Given the description of an element on the screen output the (x, y) to click on. 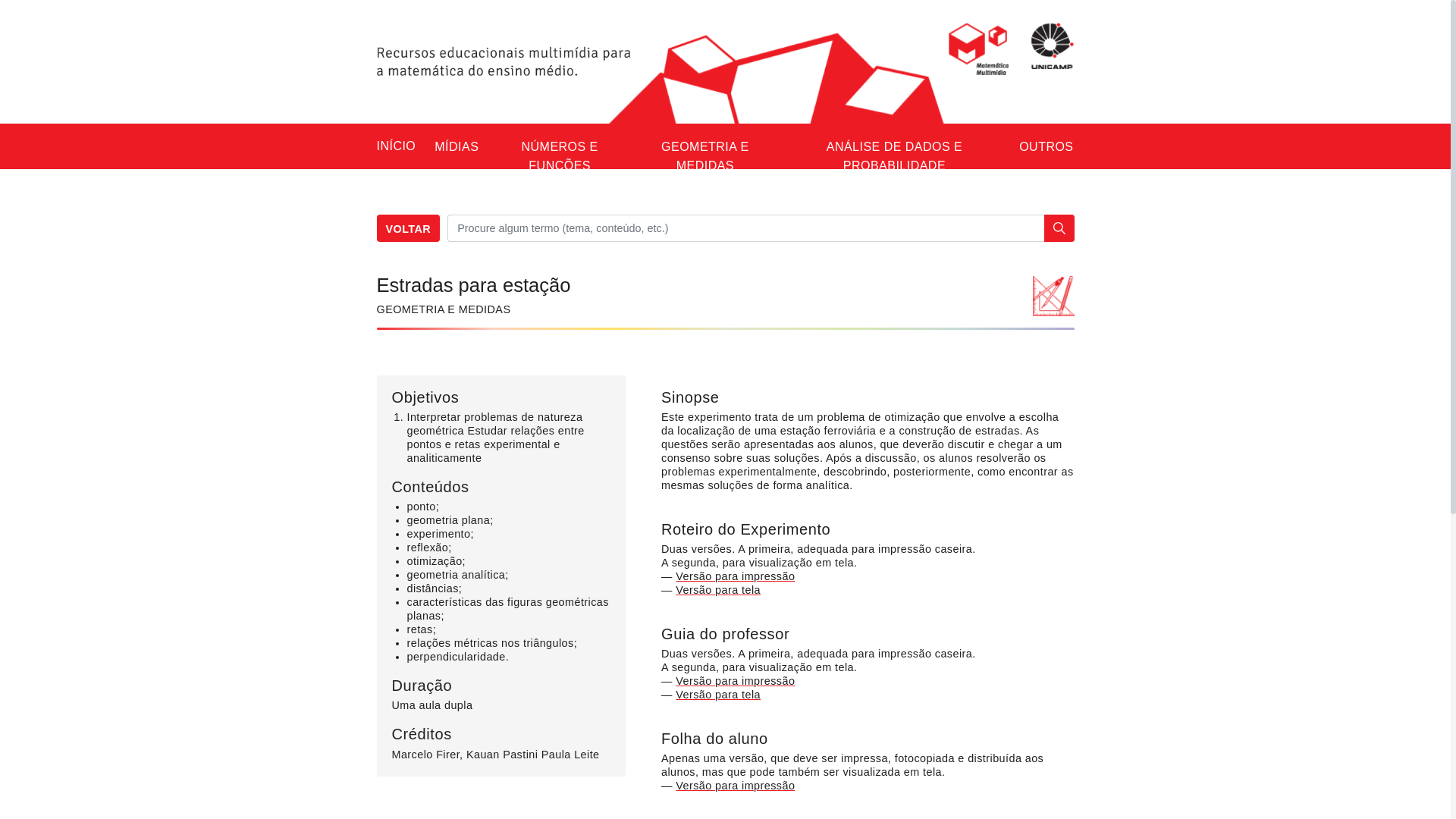
GEOMETRIA E MEDIDAS Element type: text (704, 155)
VOLTAR Element type: text (407, 227)
OUTROS Element type: text (1045, 146)
